Given the description of an element on the screen output the (x, y) to click on. 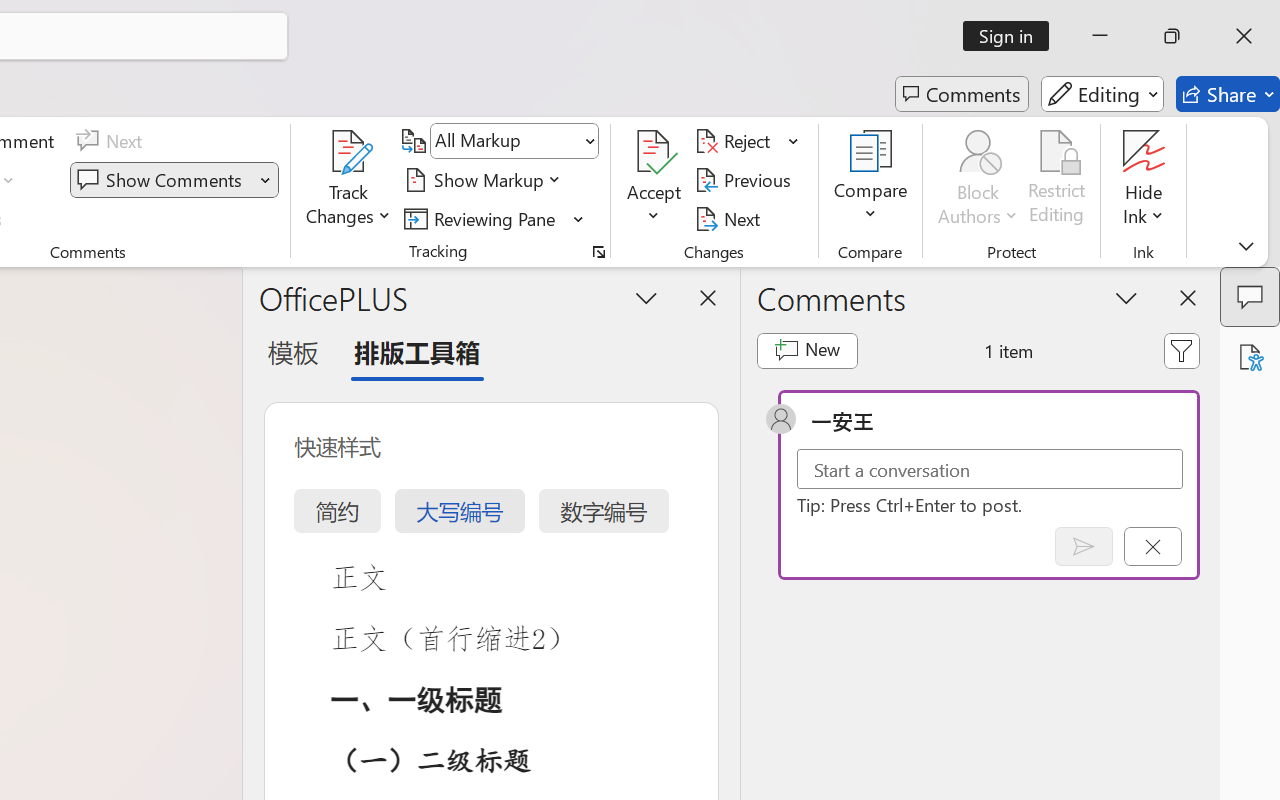
Accessibility Assistant (1249, 357)
Filter (1181, 350)
Next (730, 218)
Reject (747, 141)
Editing (1101, 94)
New comment (806, 350)
Accept (653, 179)
Compare (870, 179)
Sign in (1012, 35)
Restrict Editing (1057, 179)
Block Authors (977, 151)
